Given the description of an element on the screen output the (x, y) to click on. 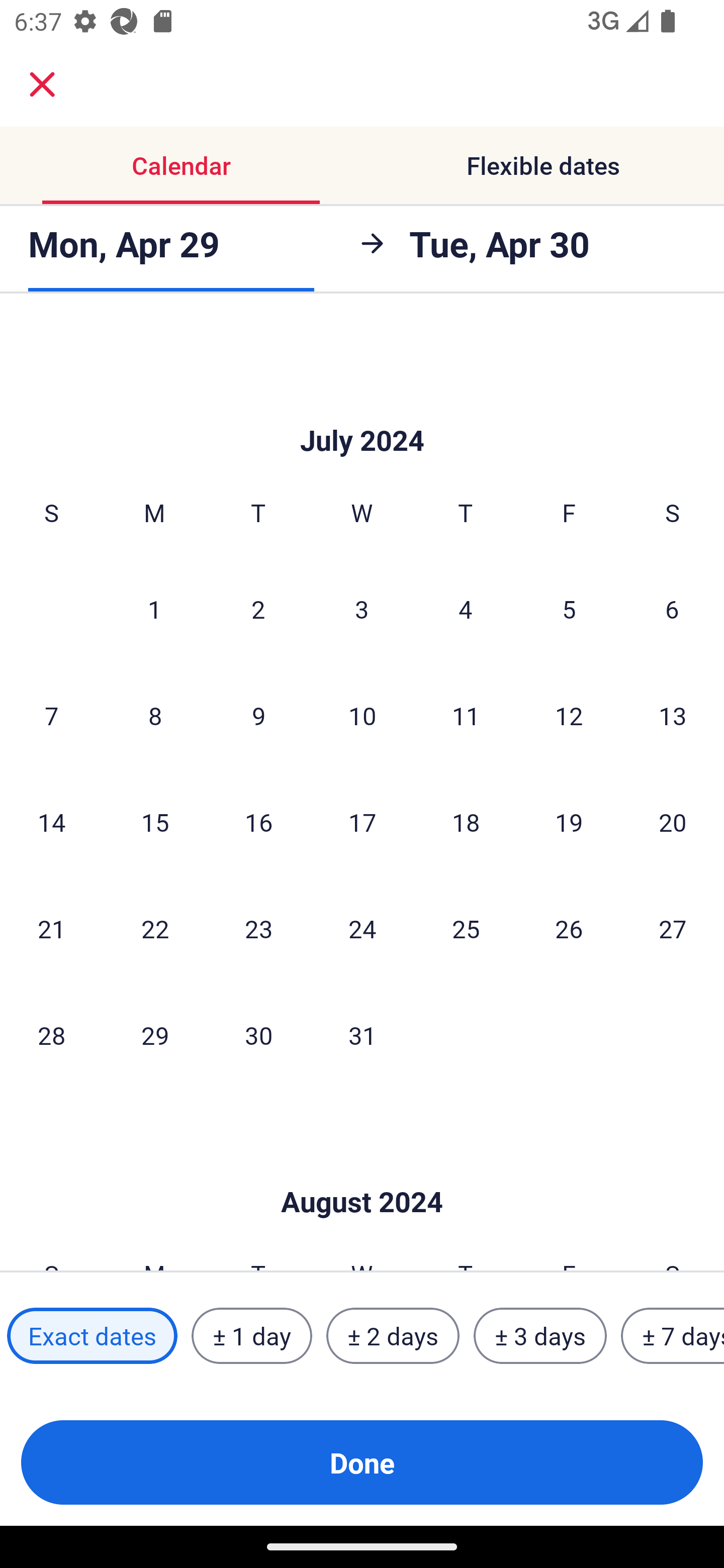
close. (42, 84)
Flexible dates (542, 164)
Skip to Done (362, 410)
1 Monday, July 1, 2024 (154, 608)
2 Tuesday, July 2, 2024 (257, 608)
3 Wednesday, July 3, 2024 (361, 608)
4 Thursday, July 4, 2024 (465, 608)
5 Friday, July 5, 2024 (568, 608)
6 Saturday, July 6, 2024 (672, 608)
7 Sunday, July 7, 2024 (51, 714)
8 Monday, July 8, 2024 (155, 714)
9 Tuesday, July 9, 2024 (258, 714)
10 Wednesday, July 10, 2024 (362, 714)
11 Thursday, July 11, 2024 (465, 714)
12 Friday, July 12, 2024 (569, 714)
13 Saturday, July 13, 2024 (672, 714)
14 Sunday, July 14, 2024 (51, 821)
15 Monday, July 15, 2024 (155, 821)
16 Tuesday, July 16, 2024 (258, 821)
17 Wednesday, July 17, 2024 (362, 821)
18 Thursday, July 18, 2024 (465, 821)
19 Friday, July 19, 2024 (569, 821)
20 Saturday, July 20, 2024 (672, 821)
21 Sunday, July 21, 2024 (51, 928)
22 Monday, July 22, 2024 (155, 928)
23 Tuesday, July 23, 2024 (258, 928)
24 Wednesday, July 24, 2024 (362, 928)
25 Thursday, July 25, 2024 (465, 928)
26 Friday, July 26, 2024 (569, 928)
27 Saturday, July 27, 2024 (672, 928)
28 Sunday, July 28, 2024 (51, 1034)
29 Monday, July 29, 2024 (155, 1034)
30 Tuesday, July 30, 2024 (258, 1034)
31 Wednesday, July 31, 2024 (362, 1034)
Skip to Done (362, 1171)
Exact dates (92, 1335)
± 1 day (251, 1335)
± 2 days (392, 1335)
± 3 days (539, 1335)
± 7 days (672, 1335)
Done (361, 1462)
